Given the description of an element on the screen output the (x, y) to click on. 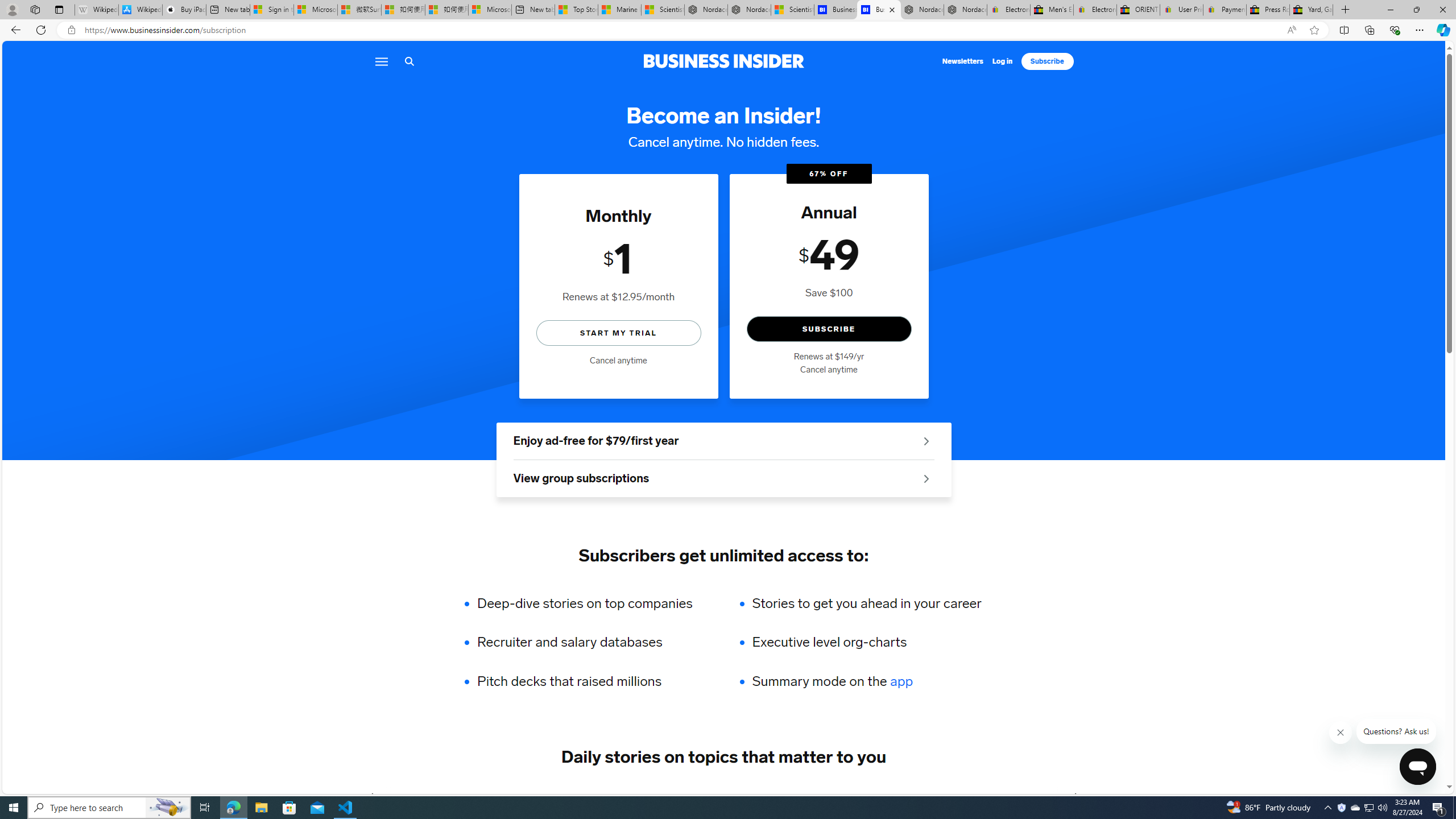
Open messaging window (1417, 766)
Questions? Ask us! (1396, 731)
Newsletters (963, 61)
PERSONAL FINANCE (700, 796)
Business Insider logo (723, 60)
Log in (1002, 61)
app (900, 681)
